Given the description of an element on the screen output the (x, y) to click on. 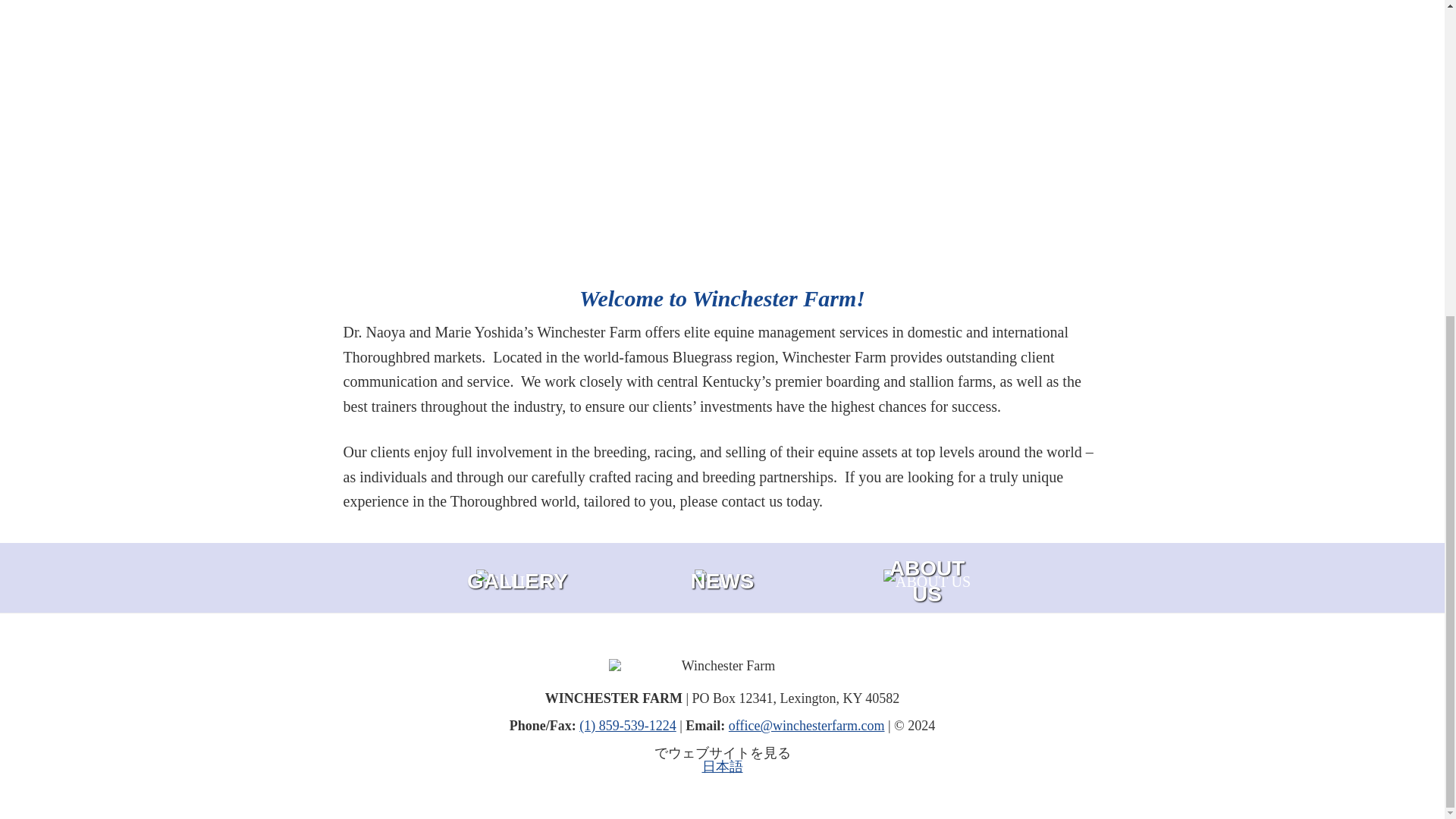
NEWS (722, 580)
ABOUT US (927, 581)
GALLERY (517, 580)
